Given the description of an element on the screen output the (x, y) to click on. 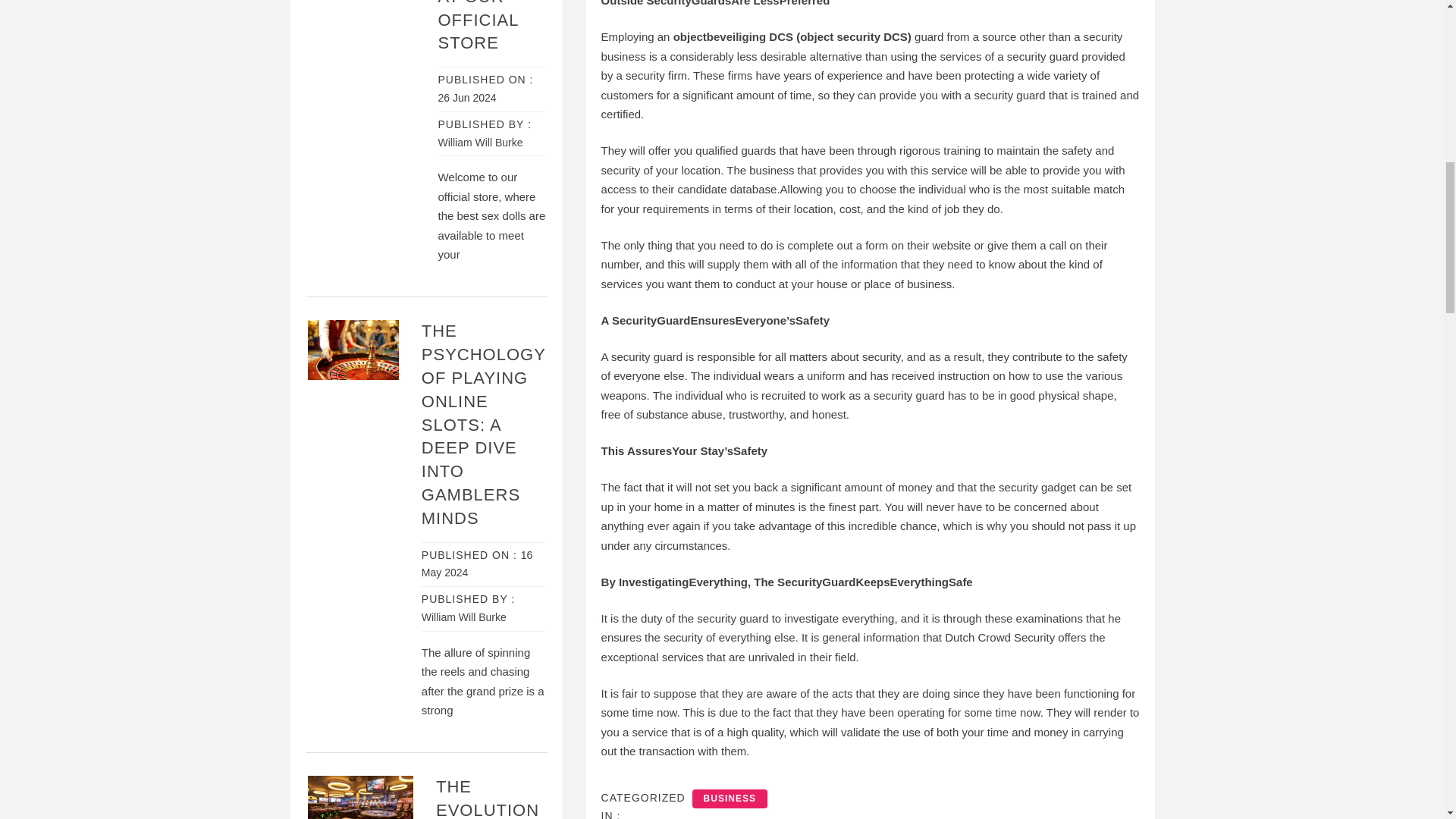
William Will Burke (480, 142)
THE EVOLUTION OF BLACKJACK: VARIANTS AND NEW TRENDS EXPLORED (490, 798)
BUSINESS (730, 798)
objectbeveiliging DCS (732, 36)
William Will Burke (464, 616)
BEST SEX DOLLS AVAILABLE AT OUR OFFICIAL STORE (484, 26)
